Given the description of an element on the screen output the (x, y) to click on. 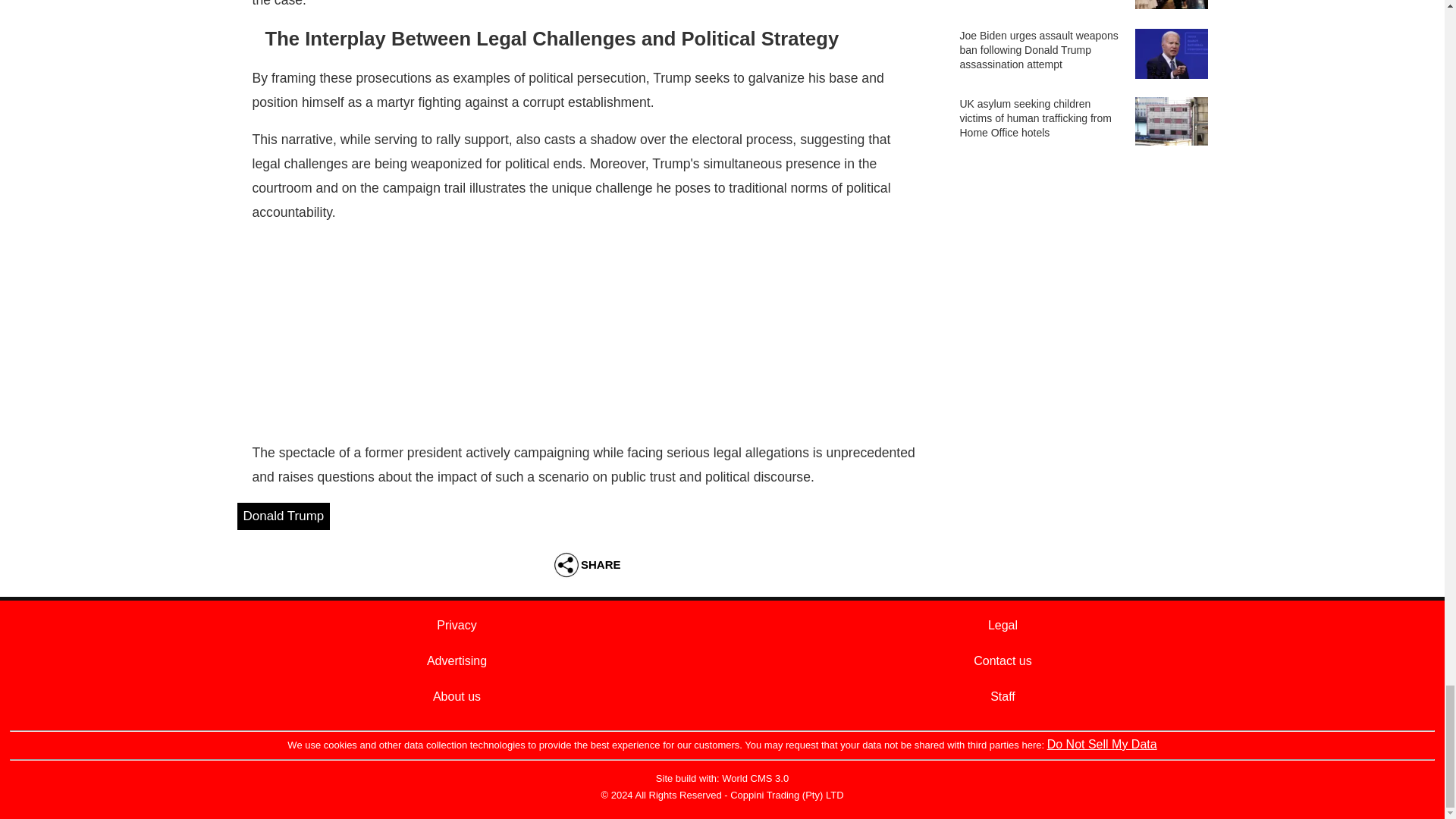
Donald Trump (282, 515)
